Given the description of an element on the screen output the (x, y) to click on. 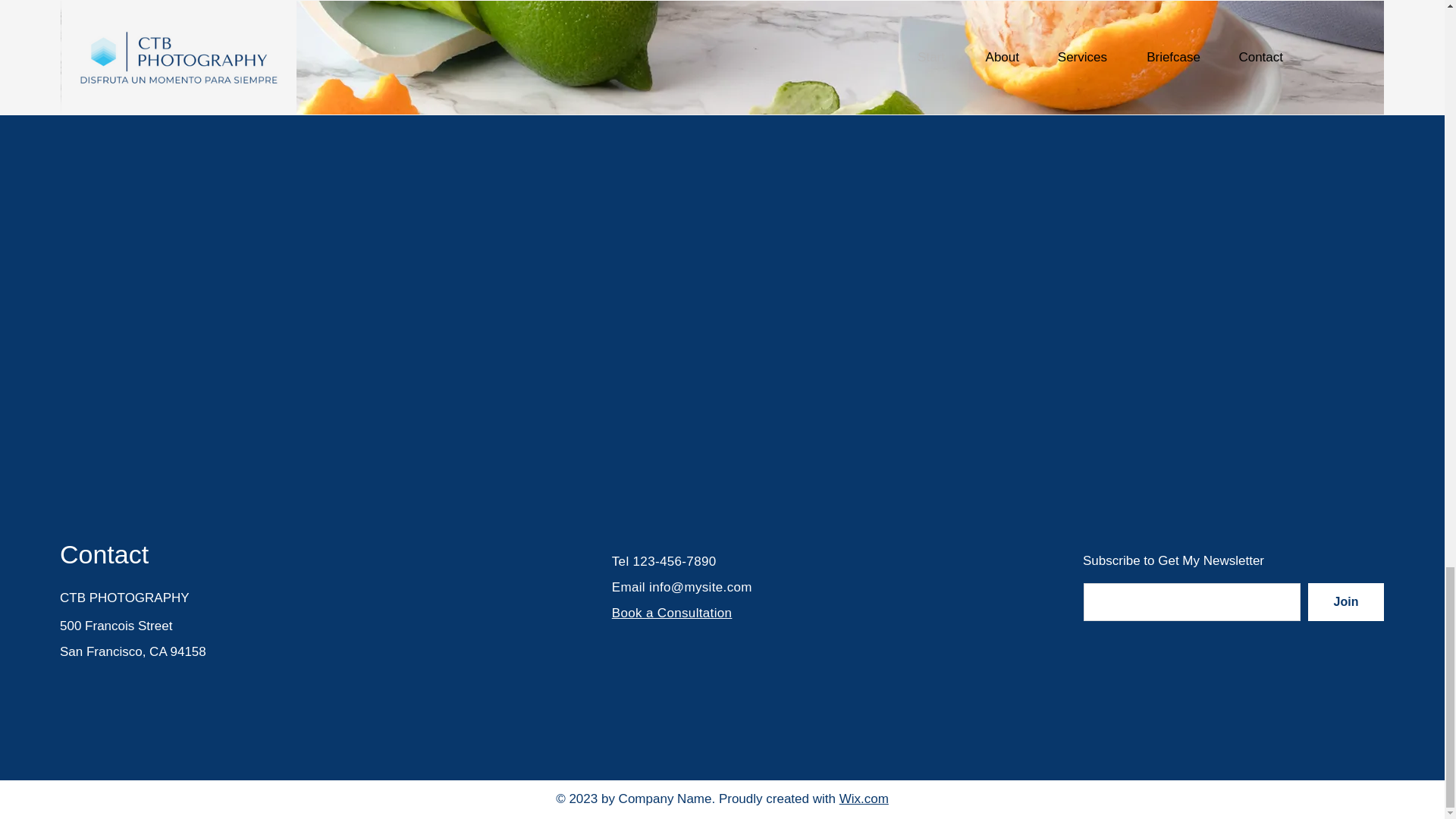
Join (1345, 601)
Wix.com (864, 798)
Book a Consultation (671, 612)
